Given the description of an element on the screen output the (x, y) to click on. 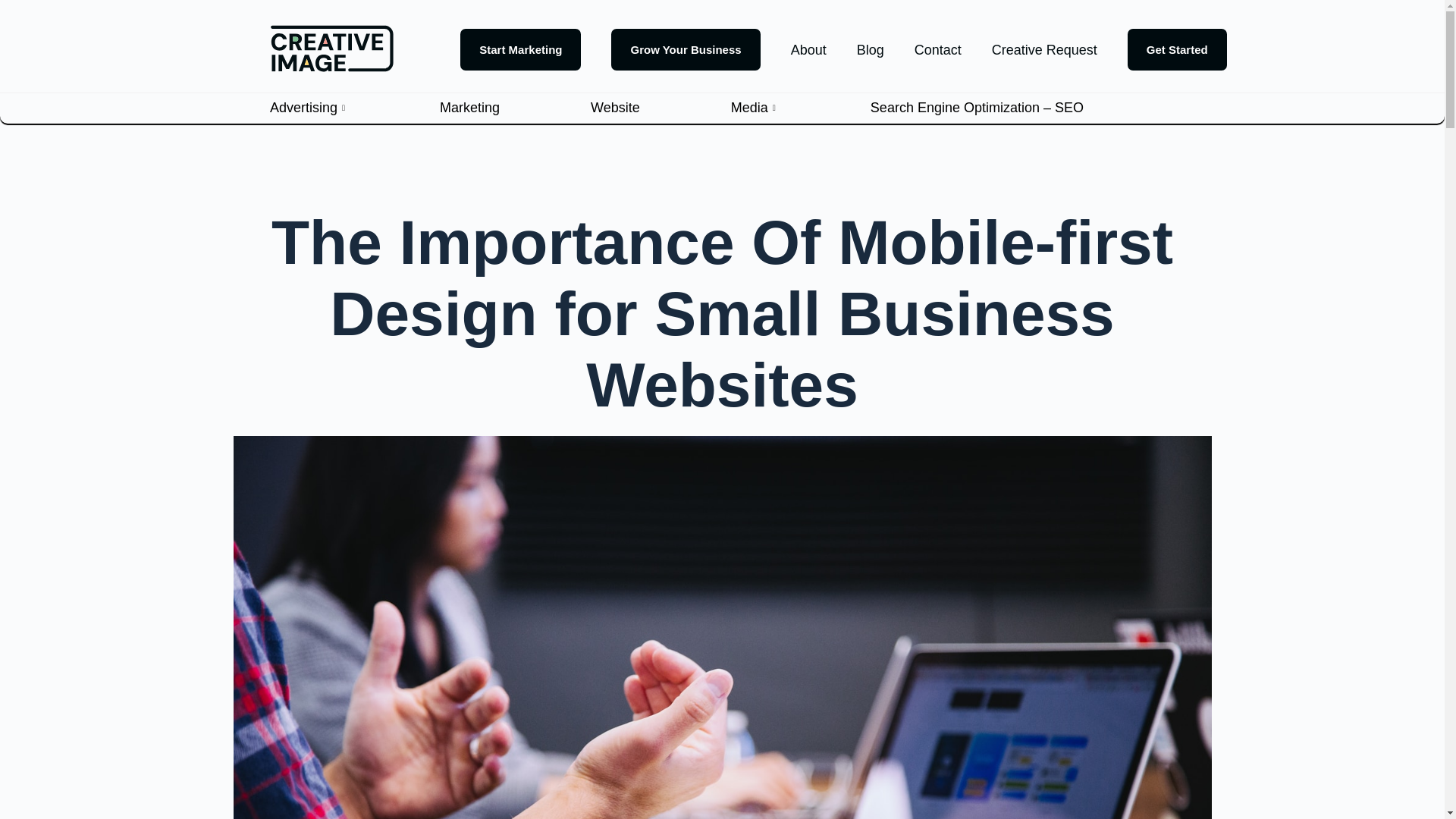
Media (800, 108)
Advertising (354, 108)
Contact (937, 49)
Get Started (1176, 49)
Website (660, 108)
About (808, 49)
Creative Request (1044, 49)
Start Marketing (520, 49)
Grow Your Business (685, 49)
Marketing (515, 108)
